Given the description of an element on the screen output the (x, y) to click on. 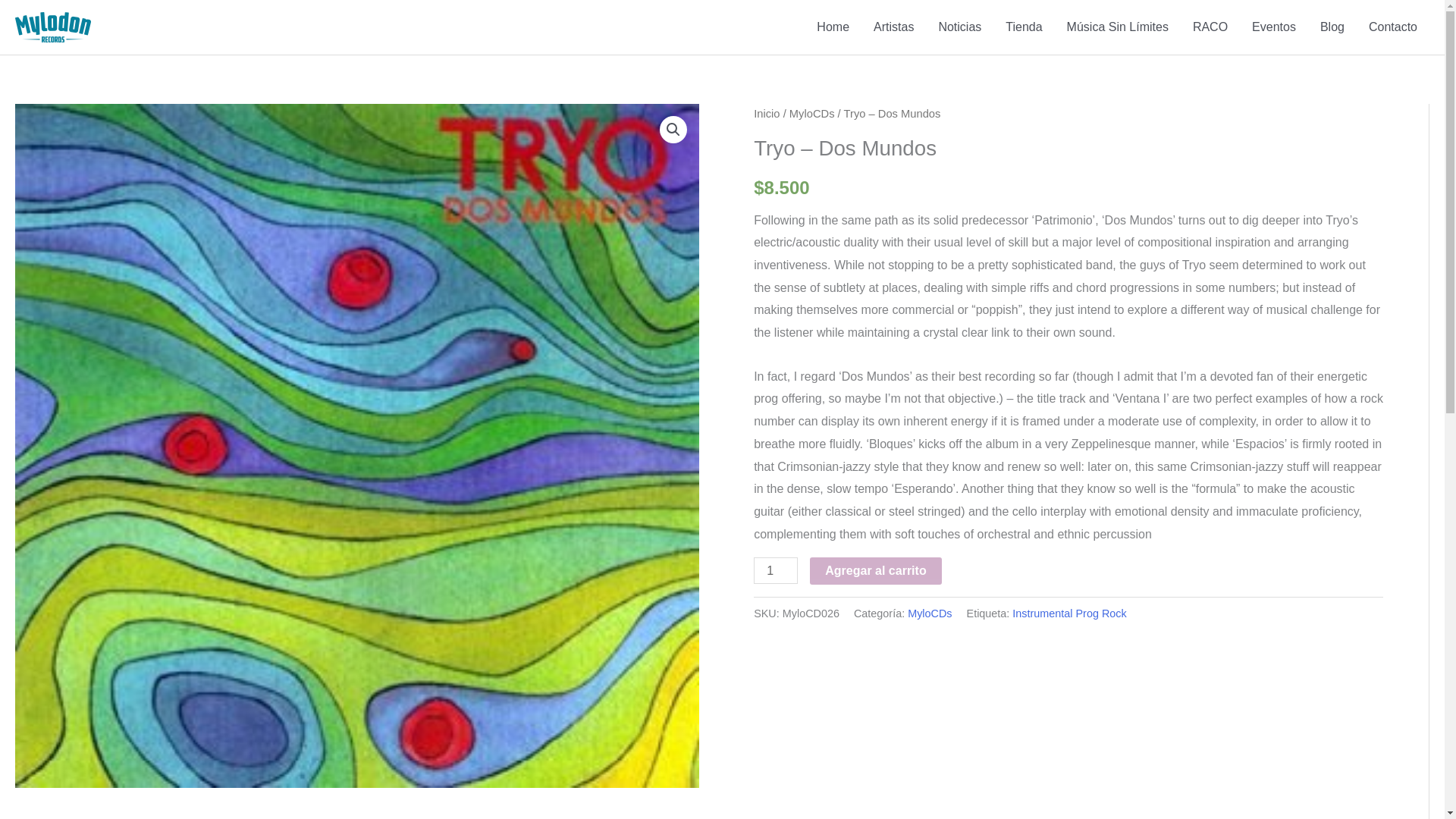
RACO (1210, 27)
Tienda (1023, 27)
Inicio (766, 113)
MyloCDs (811, 113)
Artistas (893, 27)
Eventos (1273, 27)
MyloCDs (929, 613)
Home (833, 27)
Agregar al carrito (874, 570)
Noticias (959, 27)
1 (775, 570)
Contacto (1392, 27)
Instrumental Prog Rock (1068, 613)
